Given the description of an element on the screen output the (x, y) to click on. 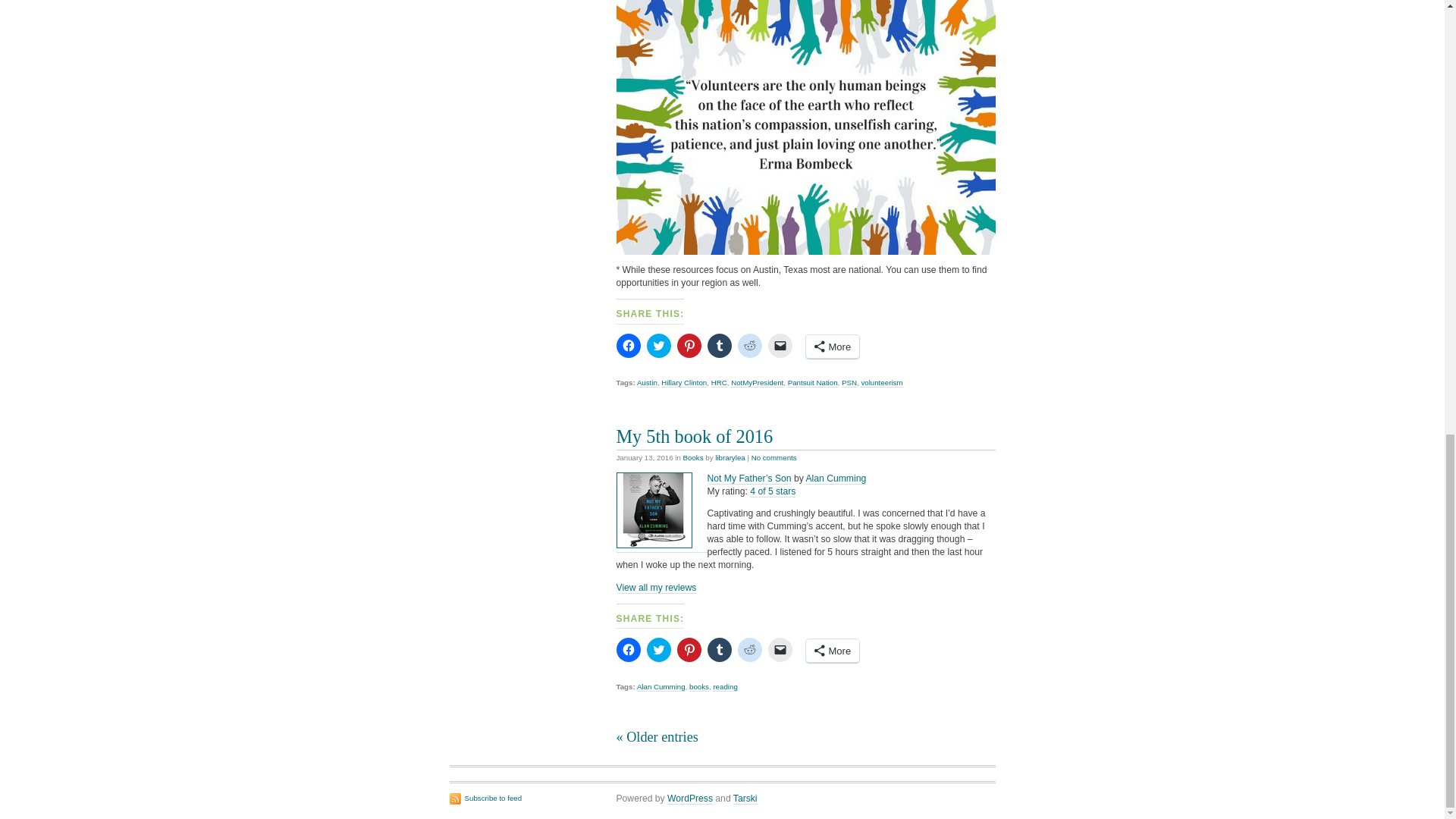
NotMyPresident (756, 382)
HRC (718, 382)
Click to share on Facebook (627, 649)
Click to share on Tumblr (718, 345)
Click to share on Reddit (748, 345)
Click to share on Twitter (657, 649)
Click to share on Pinterest (688, 345)
Click to share on Twitter (657, 345)
Austin (647, 382)
Click to email a link to a friend (779, 345)
Pantsuit Nation (812, 382)
Articles by librarylea (729, 457)
PSN (849, 382)
Hillary Clinton (683, 382)
Click to share on Facebook (627, 345)
